Given the description of an element on the screen output the (x, y) to click on. 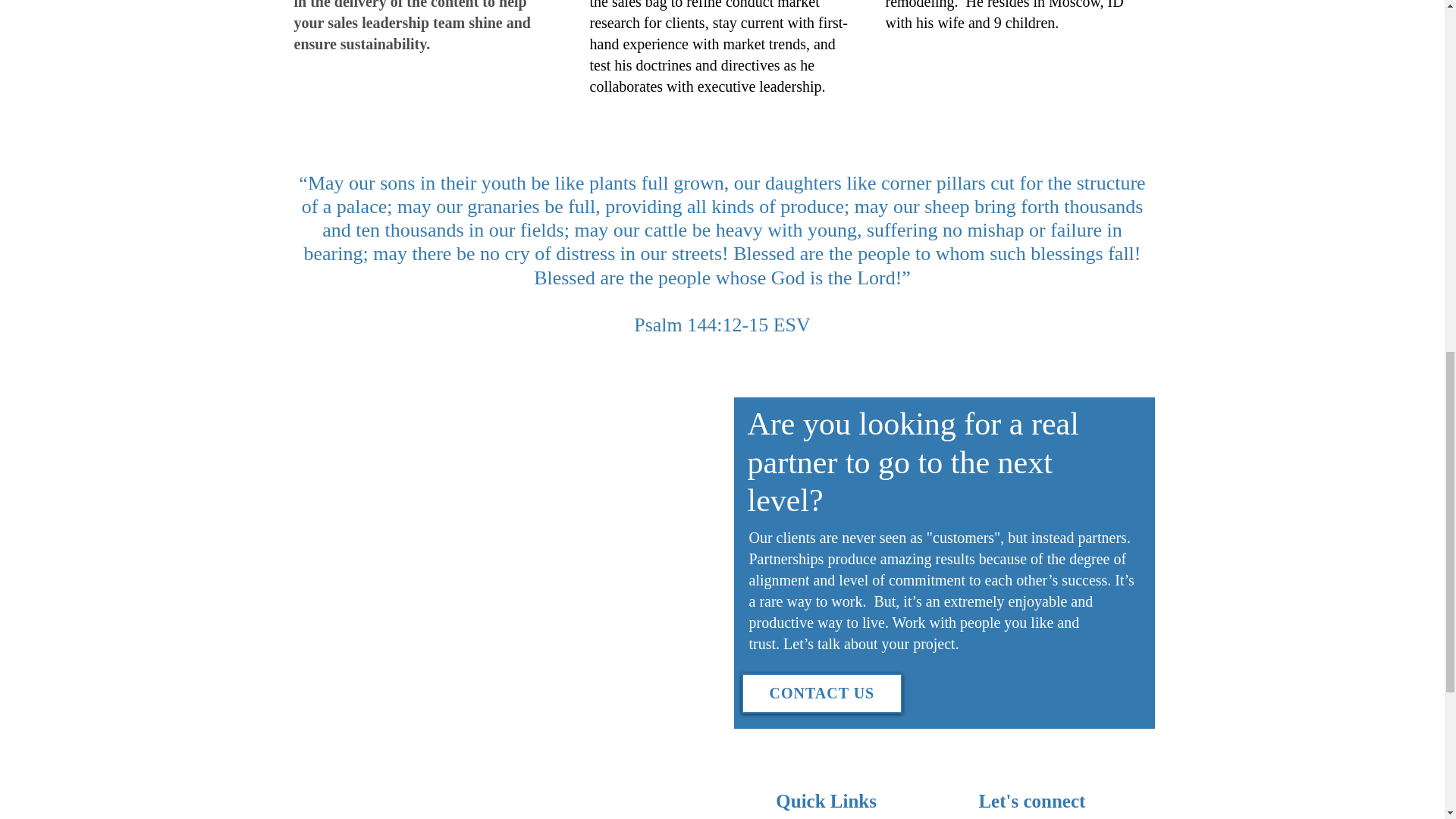
CONTACT US (821, 693)
